Given the description of an element on the screen output the (x, y) to click on. 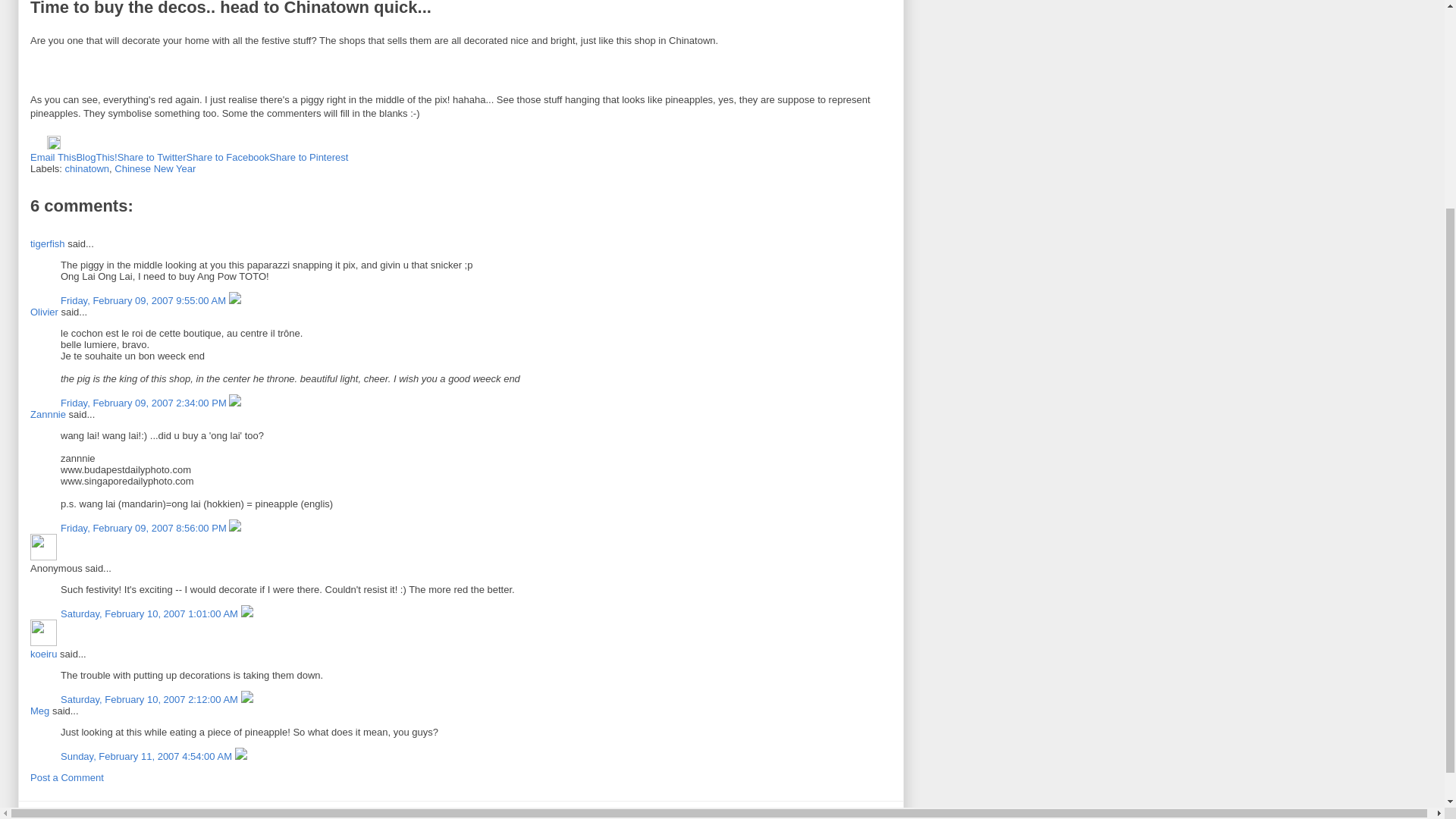
Delete Comment (234, 300)
chinatown (87, 168)
Email Post (38, 145)
Share to Twitter (151, 156)
Email This (52, 156)
Friday, February 09, 2007 9:55:00 AM (144, 300)
Chinese New Year (155, 168)
Share to Pinterest (308, 156)
Share to Facebook (227, 156)
Edit Post (53, 145)
